Given the description of an element on the screen output the (x, y) to click on. 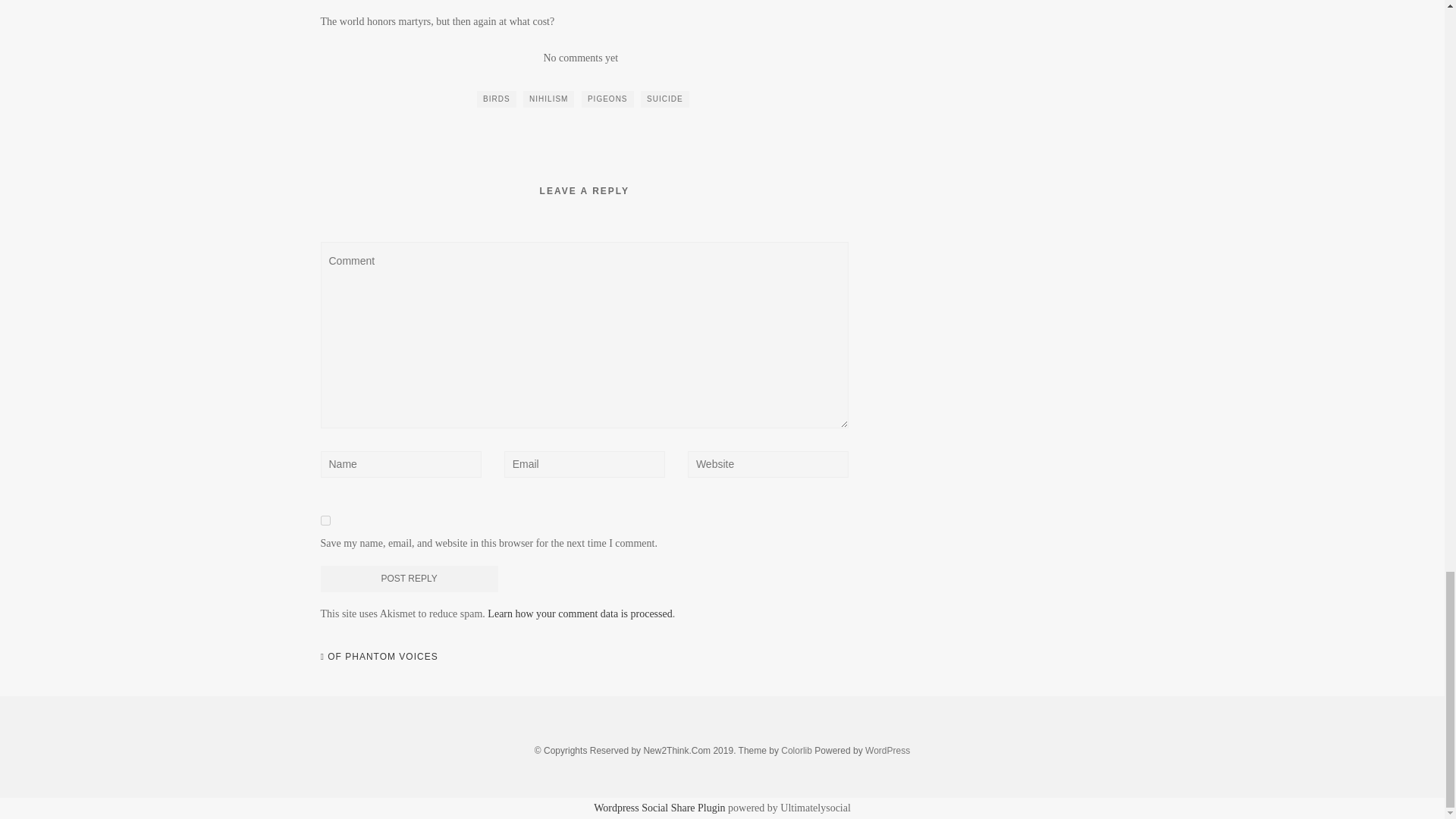
Post Reply (408, 578)
yes (325, 520)
NIHILISM (547, 98)
BIRDS (496, 98)
SUICIDE (664, 98)
Post Reply (408, 578)
No comments yet (580, 57)
OF PHANTOM VOICES (379, 656)
Learn how your comment data is processed (579, 613)
PIGEONS (606, 98)
